Given the description of an element on the screen output the (x, y) to click on. 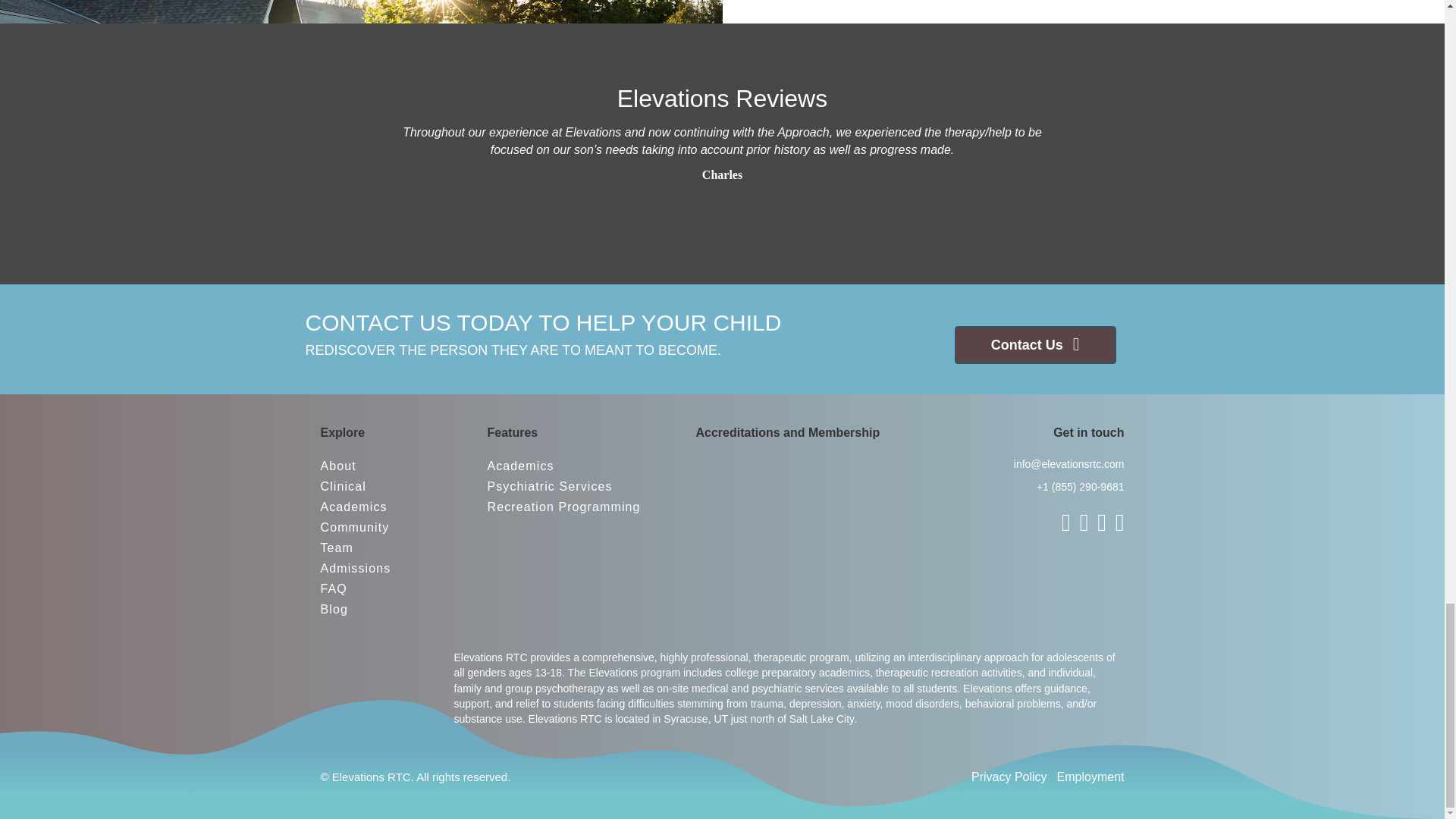
akt (727, 469)
unnamv (742, 523)
Elevations RTC - Cognia 2021 (887, 470)
Elevations RTC - The Joint Commission 2021 (810, 468)
whitelogo (365, 680)
